Given the description of an element on the screen output the (x, y) to click on. 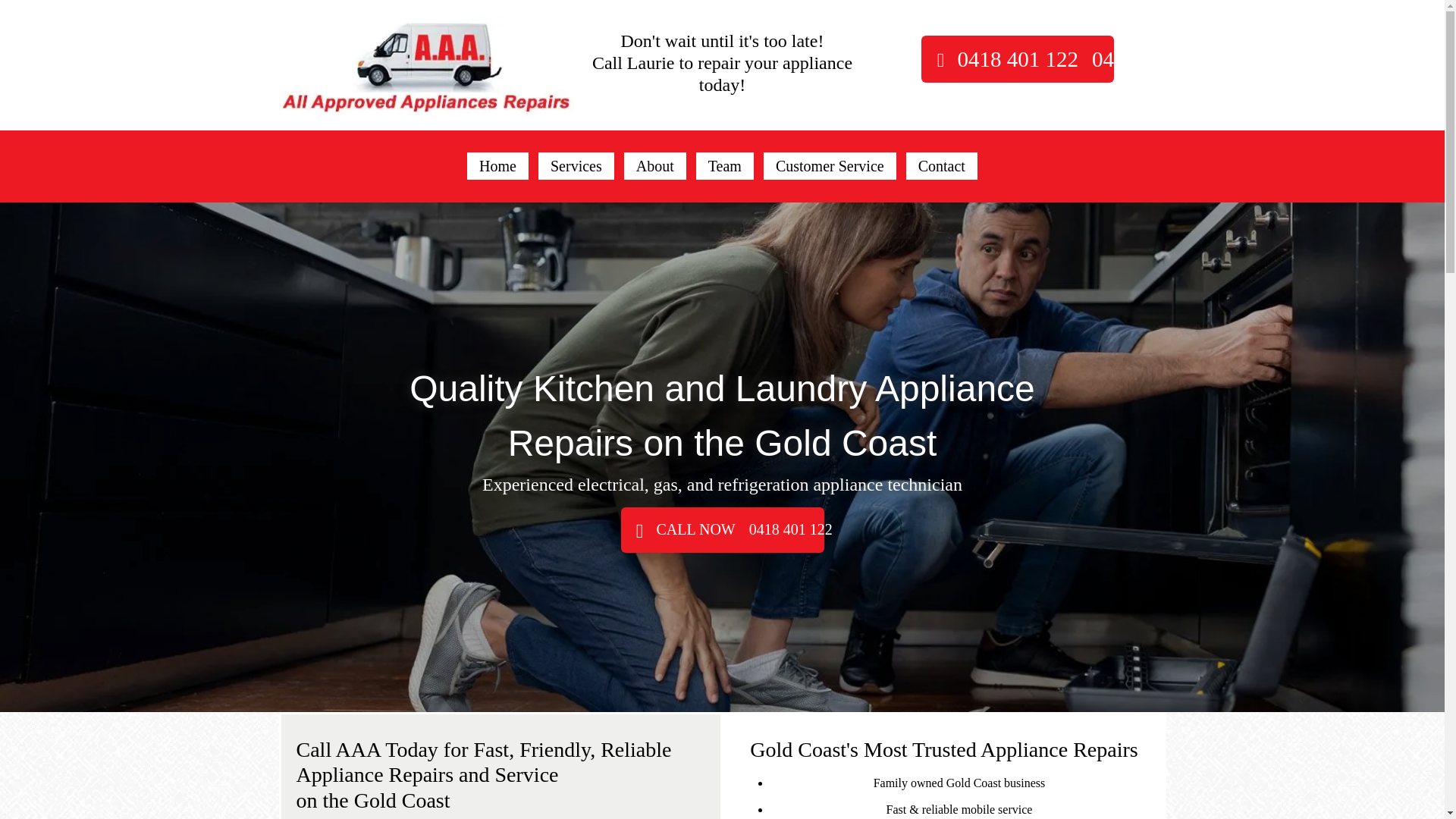
0418 401 122 0418 401 122 Element type: text (1017, 58)
CALL NOW 0418 401 122 Element type: text (721, 529)
Contact Element type: text (941, 165)
Services Element type: text (576, 165)
Team Element type: text (724, 165)
white goods appliances repairs servicing gold coast Element type: hover (426, 65)
About Element type: text (655, 165)
Home Element type: text (497, 165)
Customer Service Element type: text (829, 165)
